Given the description of an element on the screen output the (x, y) to click on. 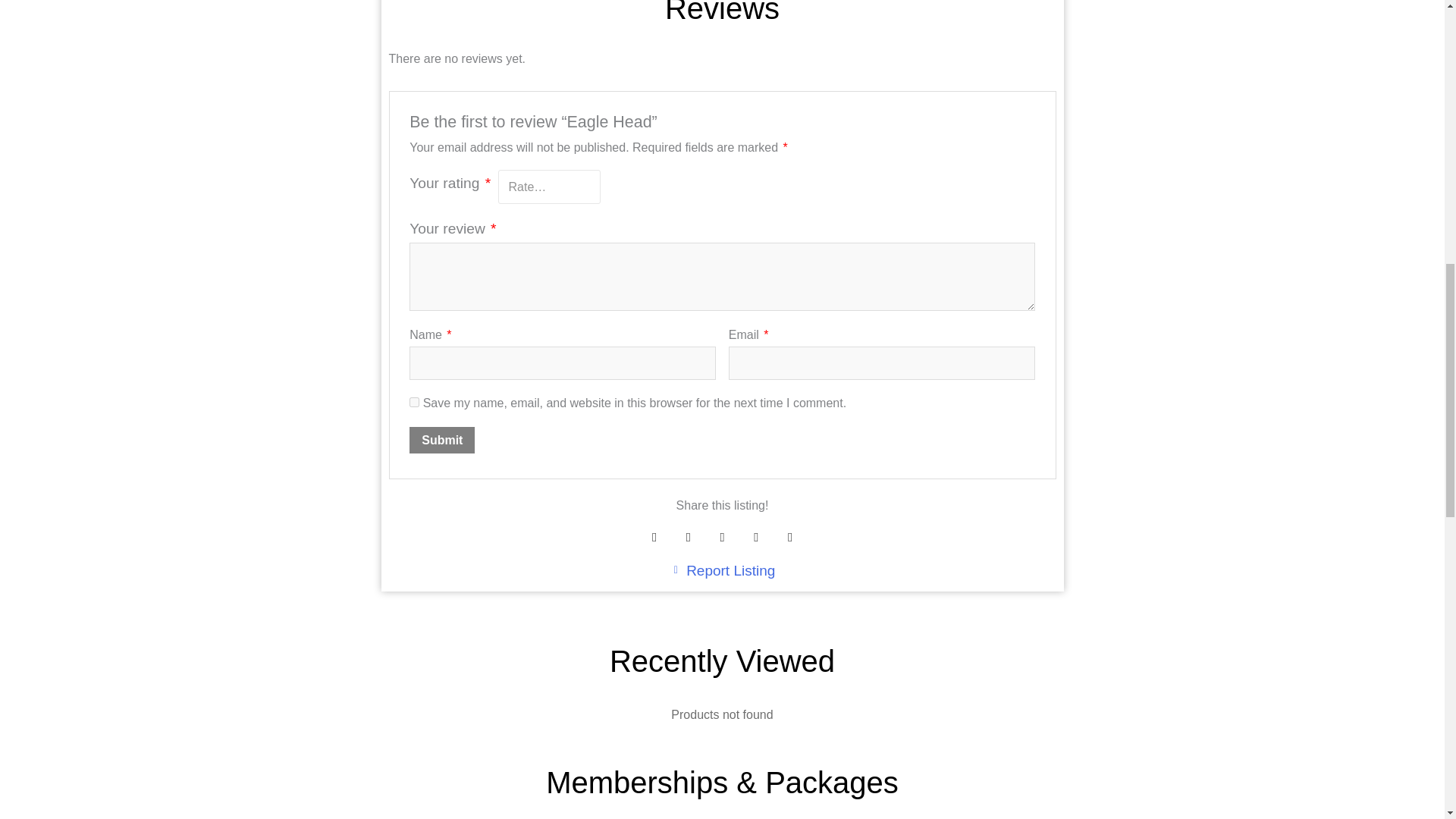
Submit (441, 440)
Report Listing (721, 570)
yes (414, 402)
Submit (441, 440)
